Given the description of an element on the screen output the (x, y) to click on. 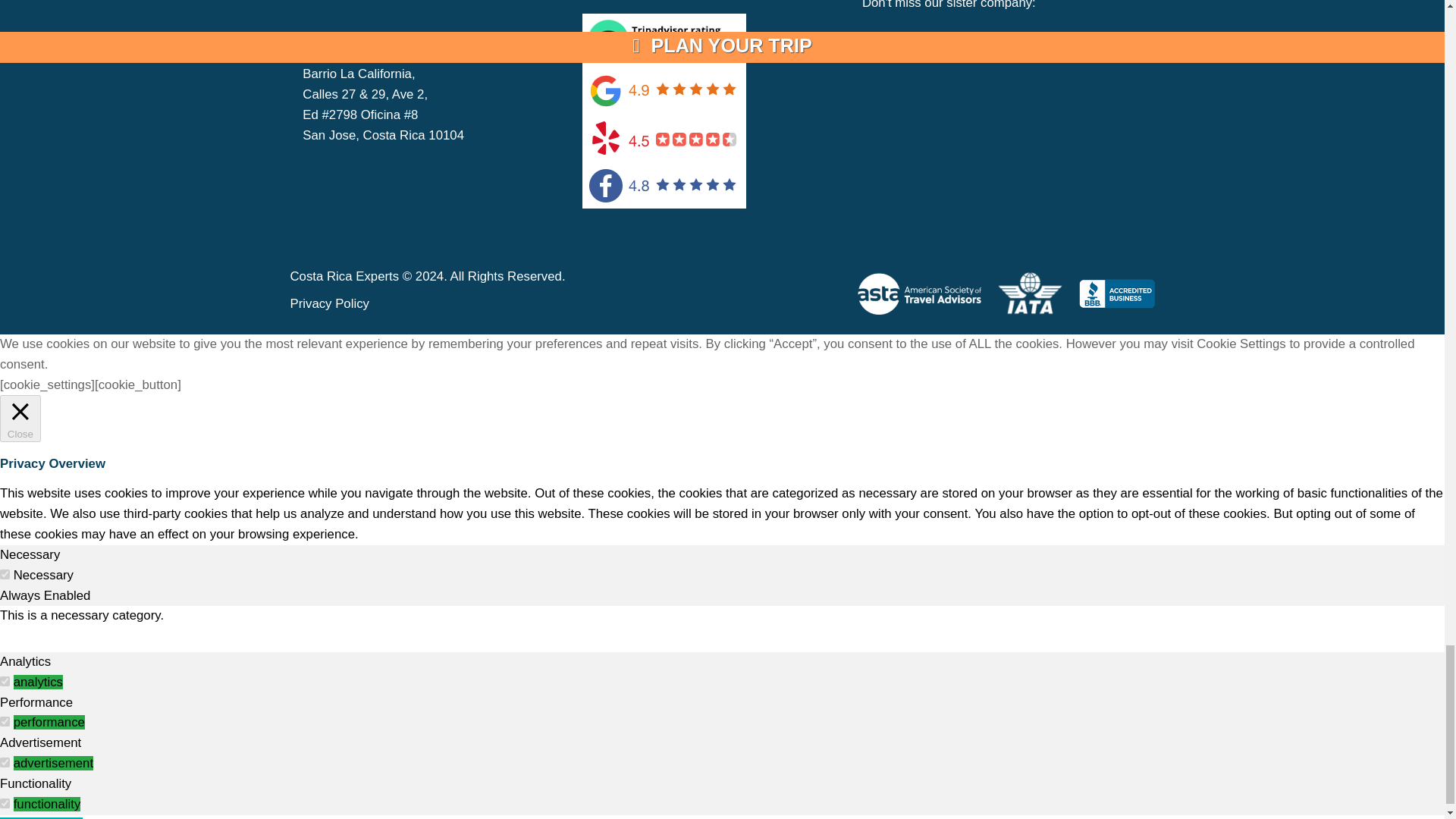
on (5, 762)
on (5, 721)
on (5, 681)
on (5, 803)
on (5, 574)
